Given the description of an element on the screen output the (x, y) to click on. 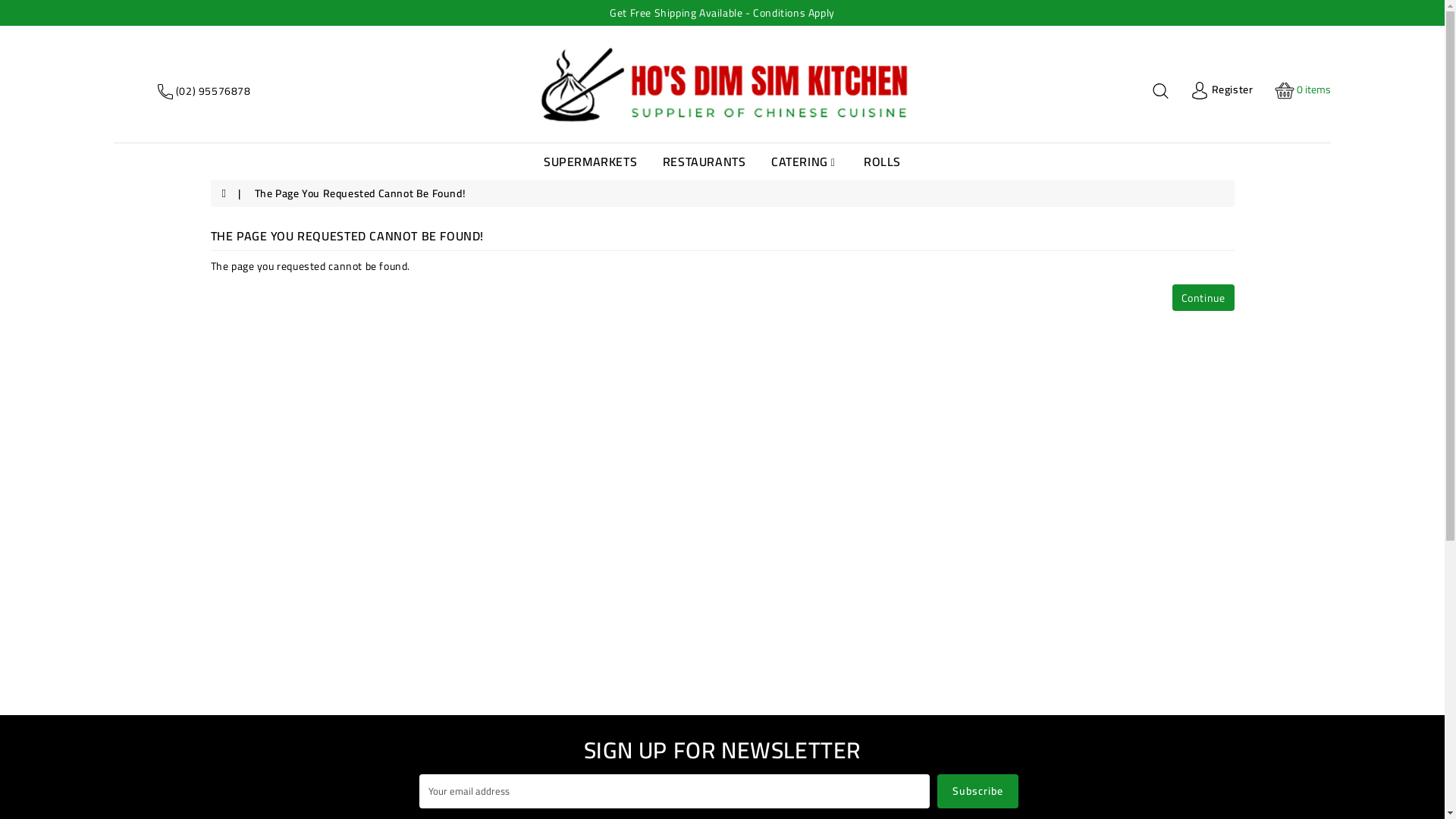
Ho's Dim Sim Kitchen Element type: hover (722, 83)
0 items Element type: text (1302, 90)
The Page You Requested Cannot Be Found! Element type: text (359, 193)
Subscribe Element type: text (977, 791)
Continue Element type: text (1203, 297)
ROLLS Element type: text (881, 161)
CATERING Element type: text (804, 161)
RESTAURANTS Element type: text (704, 161)
SUPERMARKETS Element type: text (590, 161)
 Register Element type: text (1221, 89)
